Given the description of an element on the screen output the (x, y) to click on. 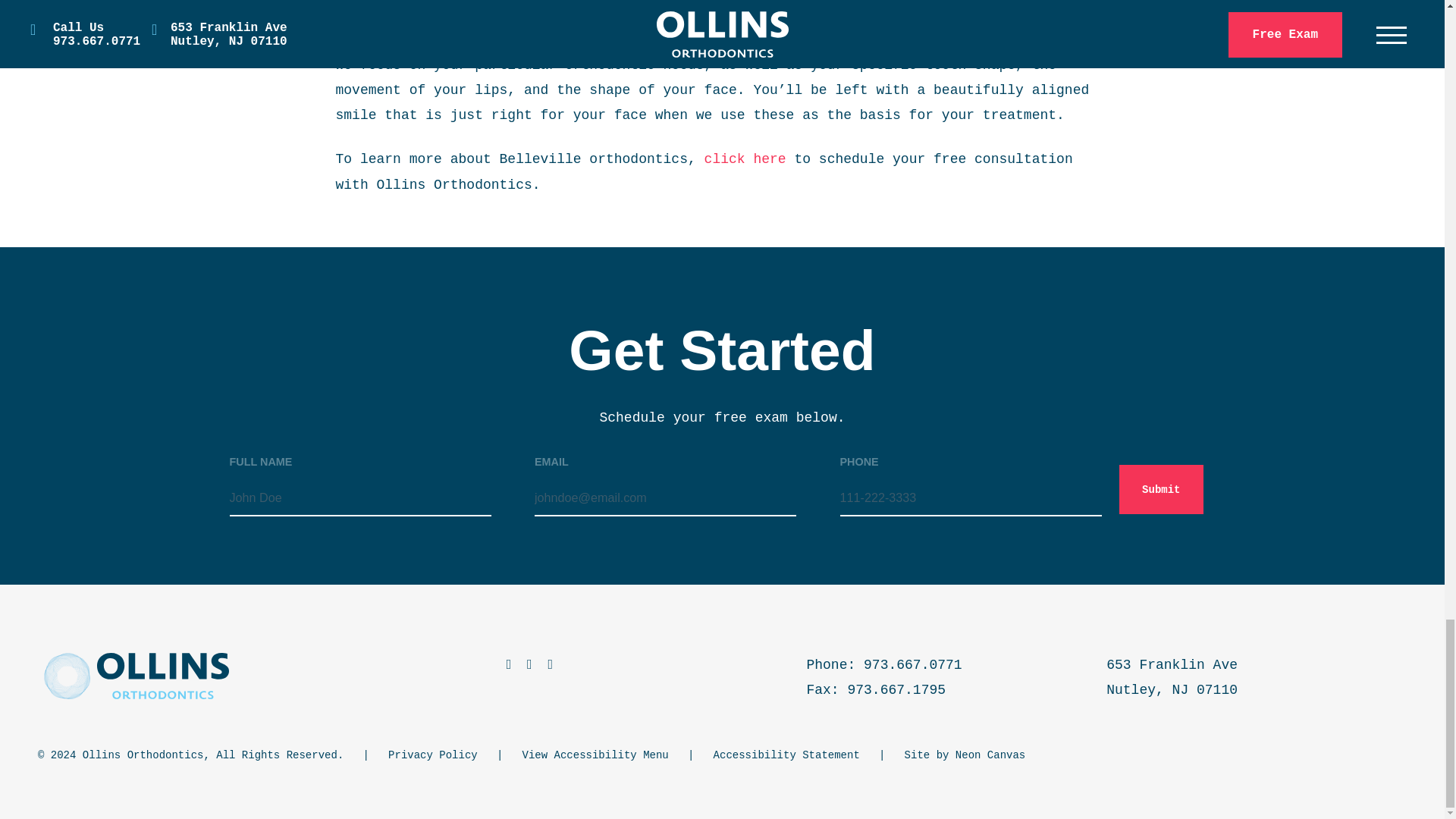
Submit (1160, 489)
